Given the description of an element on the screen output the (x, y) to click on. 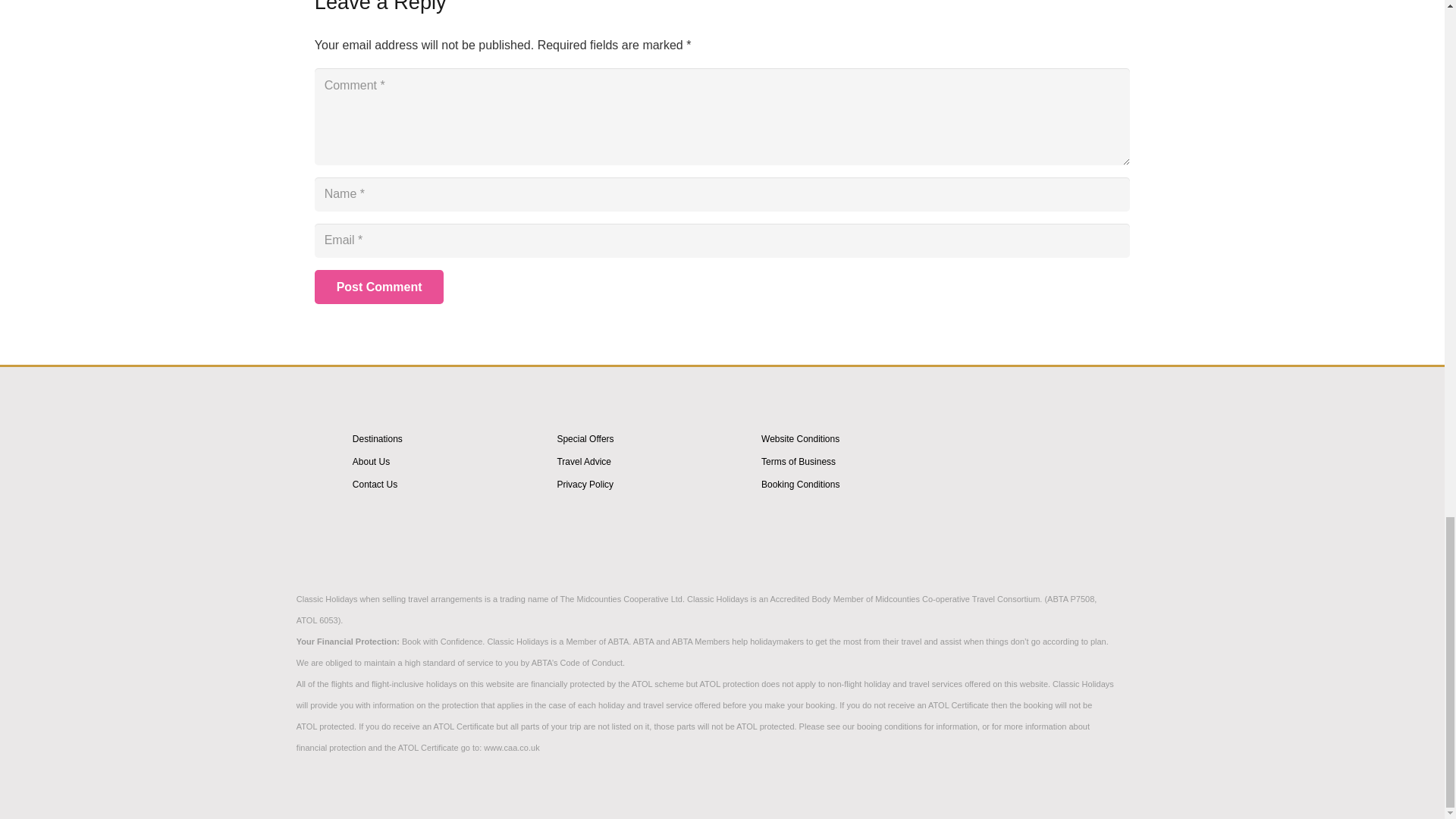
4 must-see attractions along the River Nile (1012, 563)
Contact Us (374, 484)
4 must-see attractions along the River Nile (1012, 482)
About Us (371, 461)
Special Offers (584, 439)
Destinations (377, 439)
Post Comment (379, 286)
